Given the description of an element on the screen output the (x, y) to click on. 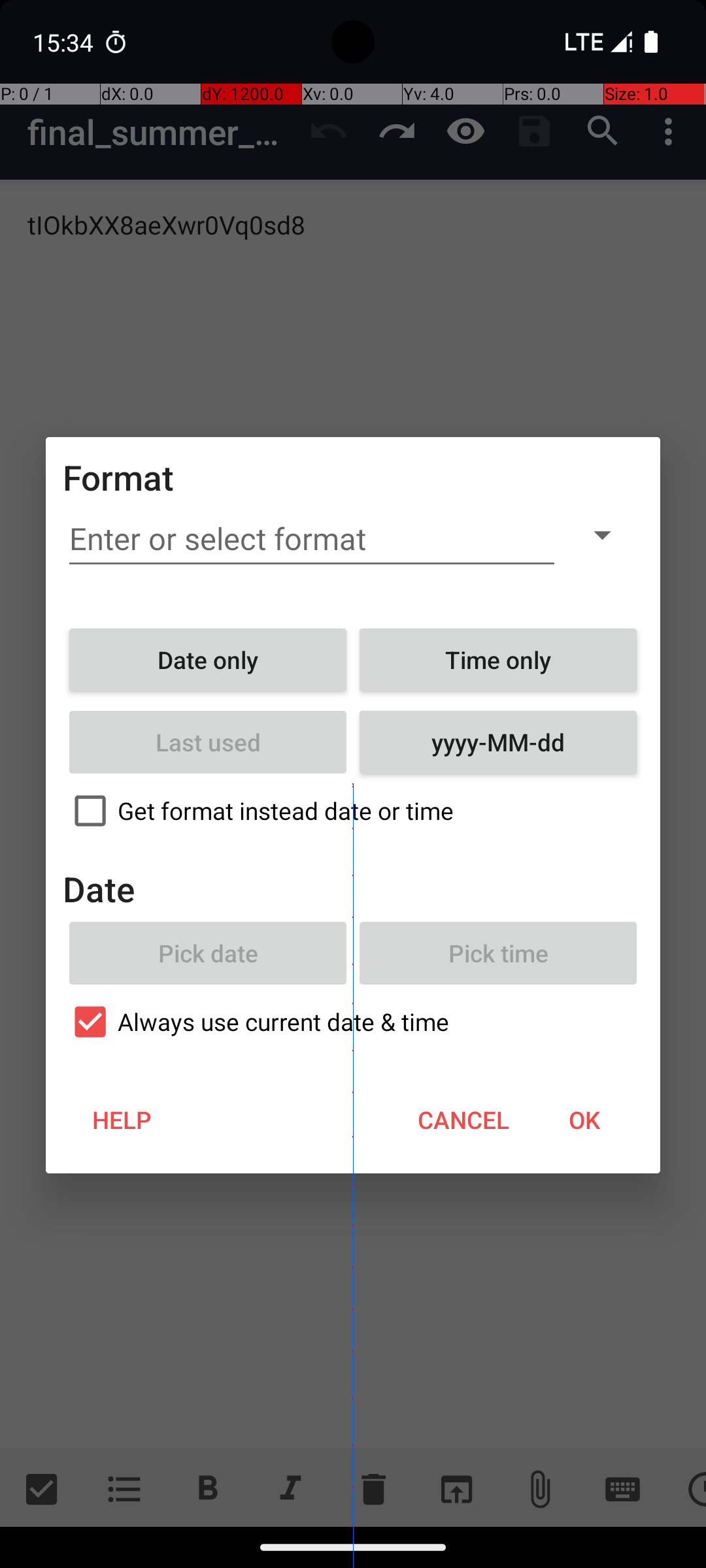
Enter or select format Element type: android.widget.EditText (311, 538)
